Given the description of an element on the screen output the (x, y) to click on. 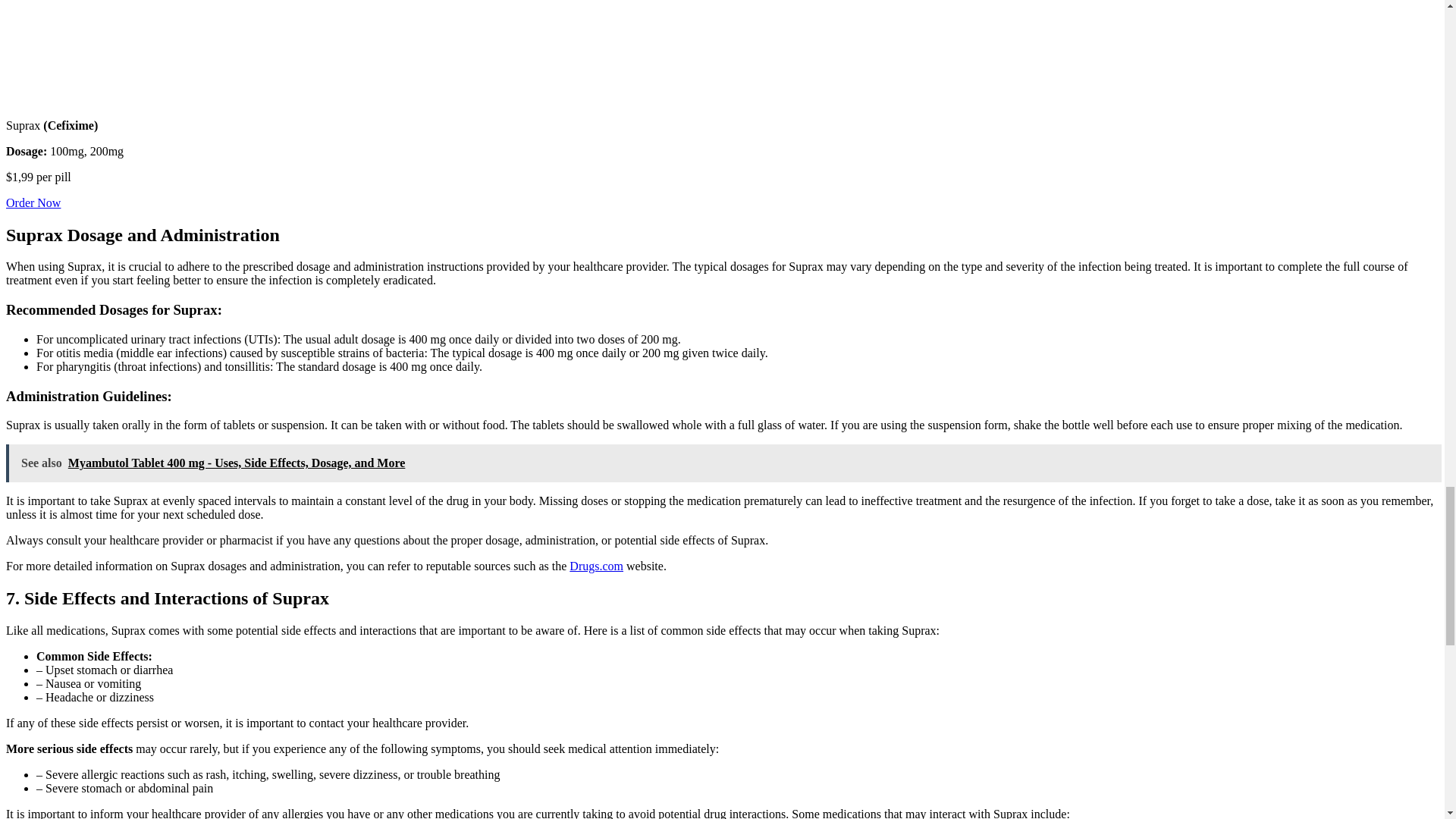
Order Now (33, 202)
Drugs.com (596, 565)
